Given the description of an element on the screen output the (x, y) to click on. 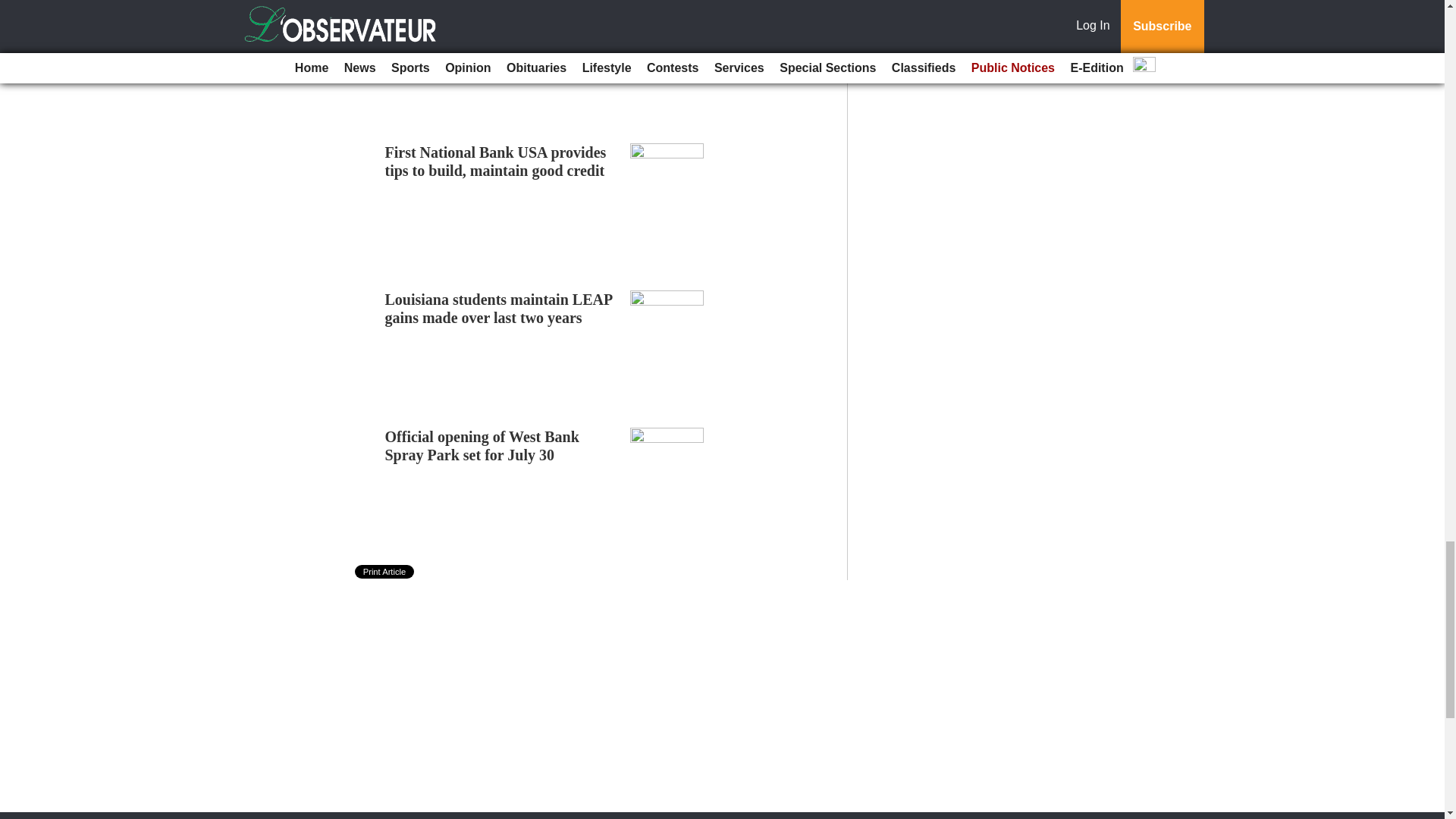
Youth golf league registration opens (501, 15)
Print Article (384, 571)
Official opening of West Bank Spray Park set for July 30 (482, 445)
Official opening of West Bank Spray Park set for July 30 (482, 445)
Youth golf league registration opens (501, 15)
